Given the description of an element on the screen output the (x, y) to click on. 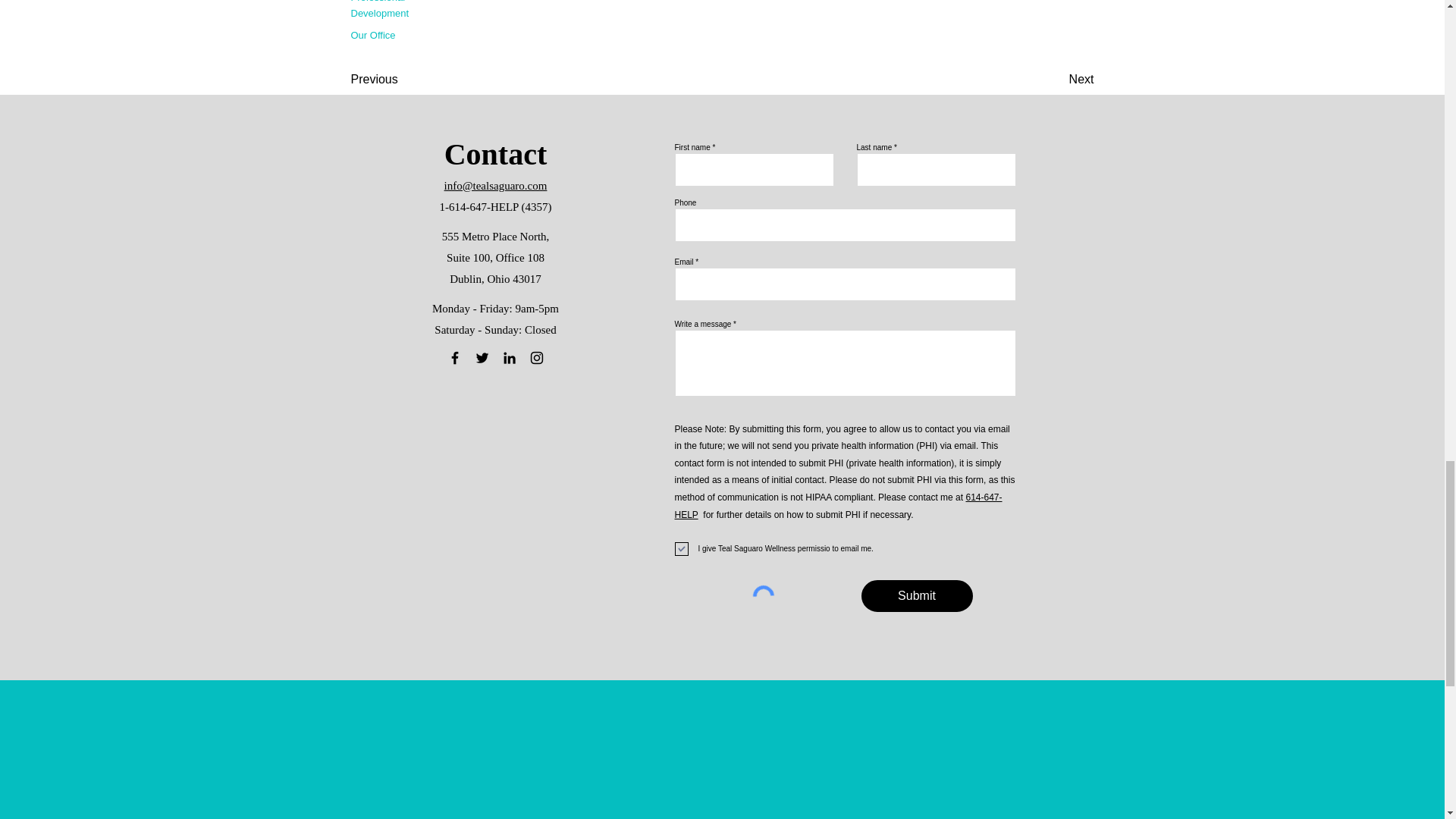
Submit (916, 595)
Previous (399, 79)
614-647-HELP (839, 506)
Next (1055, 79)
